Given the description of an element on the screen output the (x, y) to click on. 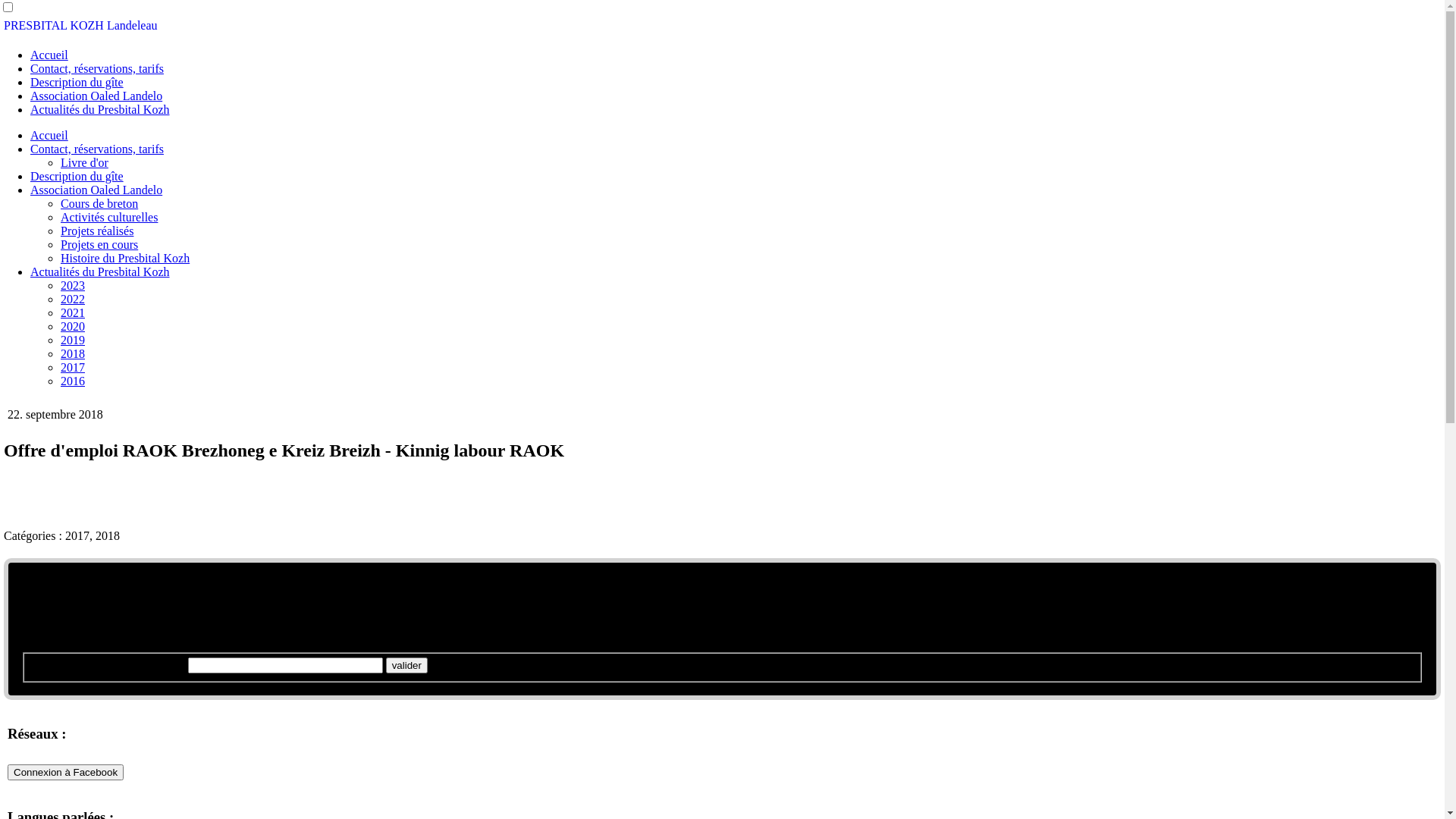
Cours de breton Element type: text (99, 203)
2019 Element type: text (72, 339)
2017 Element type: text (72, 366)
Accueil Element type: text (49, 54)
Accueil Element type: text (49, 134)
2021 Element type: text (72, 312)
2020 Element type: text (72, 326)
2022 Element type: text (72, 298)
Association Oaled Landelo Element type: text (96, 189)
Histoire du Presbital Kozh Element type: text (124, 257)
2018 Element type: text (72, 353)
Livre d'or Element type: text (84, 162)
2023 Element type: text (72, 285)
Projets en cours Element type: text (99, 244)
2016 Element type: text (72, 380)
PRESBITAL KOZH Landeleau Element type: text (80, 24)
Association Oaled Landelo Element type: text (96, 95)
valider Element type: text (406, 665)
